Given the description of an element on the screen output the (x, y) to click on. 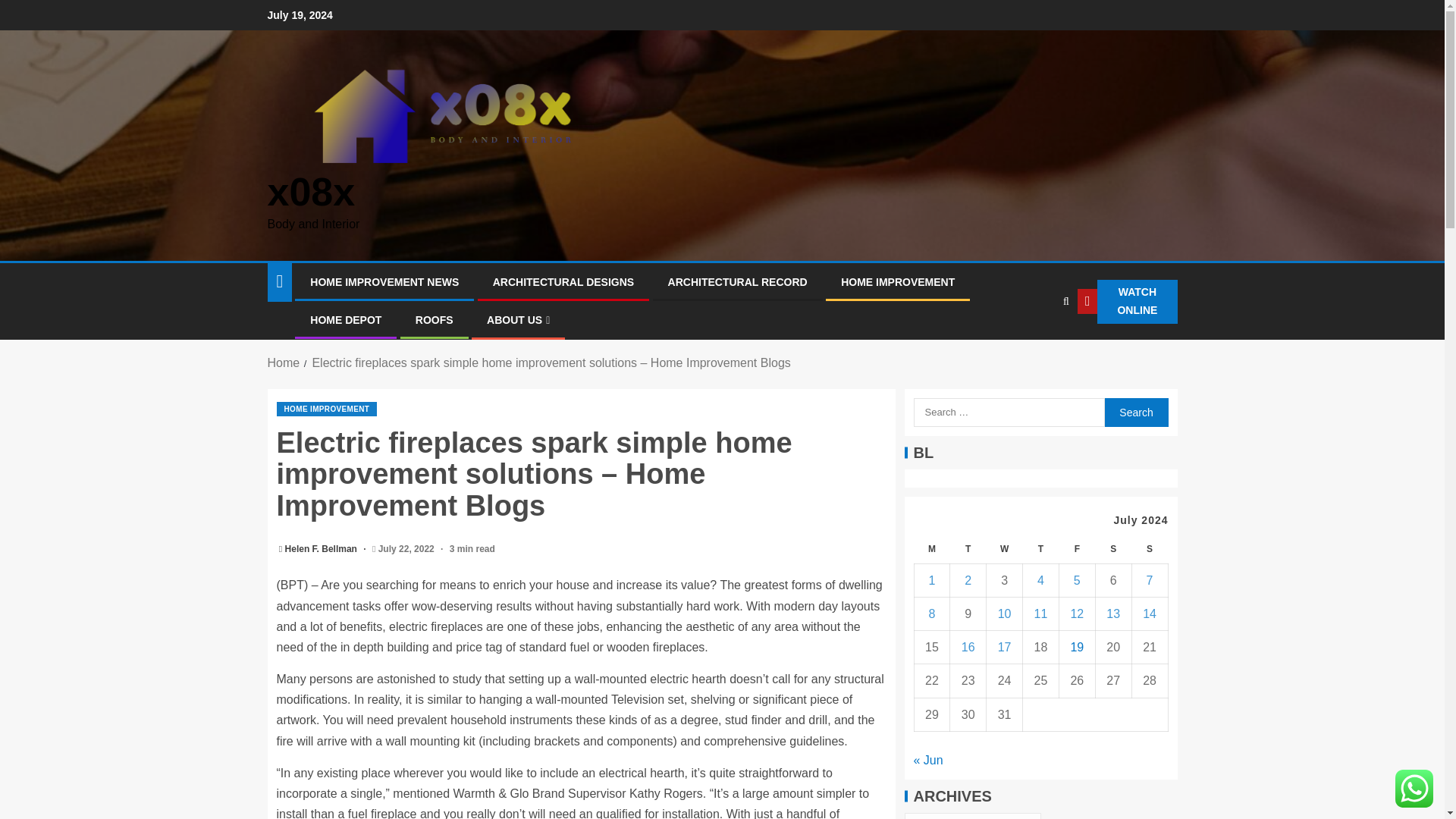
Wednesday (1005, 549)
Helen F. Bellman (322, 548)
HOME IMPROVEMENT NEWS (384, 282)
Thursday (1041, 549)
Tuesday (968, 549)
Friday (1076, 549)
WATCH ONLINE (1126, 301)
HOME IMPROVEMENT (898, 282)
ARCHITECTURAL DESIGNS (563, 282)
Search (1135, 412)
Home (282, 362)
ROOFS (433, 319)
Search (1034, 347)
HOME DEPOT (345, 319)
x08x (310, 191)
